Given the description of an element on the screen output the (x, y) to click on. 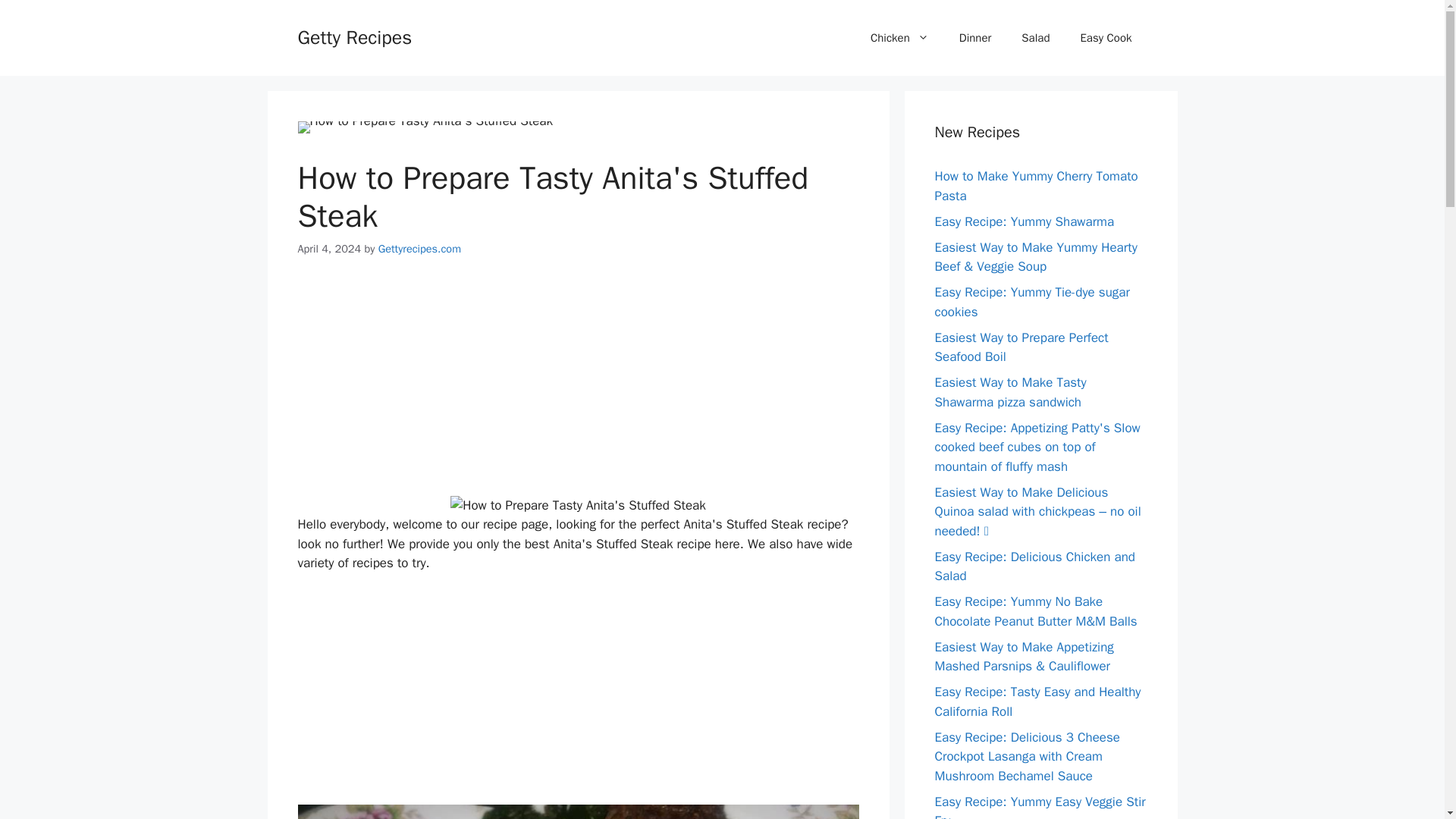
Getty Recipes (354, 37)
Easy Recipe: Yummy Tie-dye sugar cookies (1031, 302)
Easiest Way to Prepare Perfect Seafood Boil (1021, 346)
How to Prepare Tasty Anita's Stuffed Steak (425, 127)
Salad (1035, 37)
Easy Recipe: Yummy Shawarma (1023, 221)
Gettyrecipes.com (419, 248)
Easy Cook (1105, 37)
Advertisement (578, 389)
Dinner (975, 37)
How to Make Yummy Cherry Tomato Pasta (1035, 185)
Advertisement (578, 698)
Chicken (899, 37)
View all posts by Gettyrecipes.com (419, 248)
How to Prepare Tasty Anita's Stuffed Steak (577, 505)
